Given the description of an element on the screen output the (x, y) to click on. 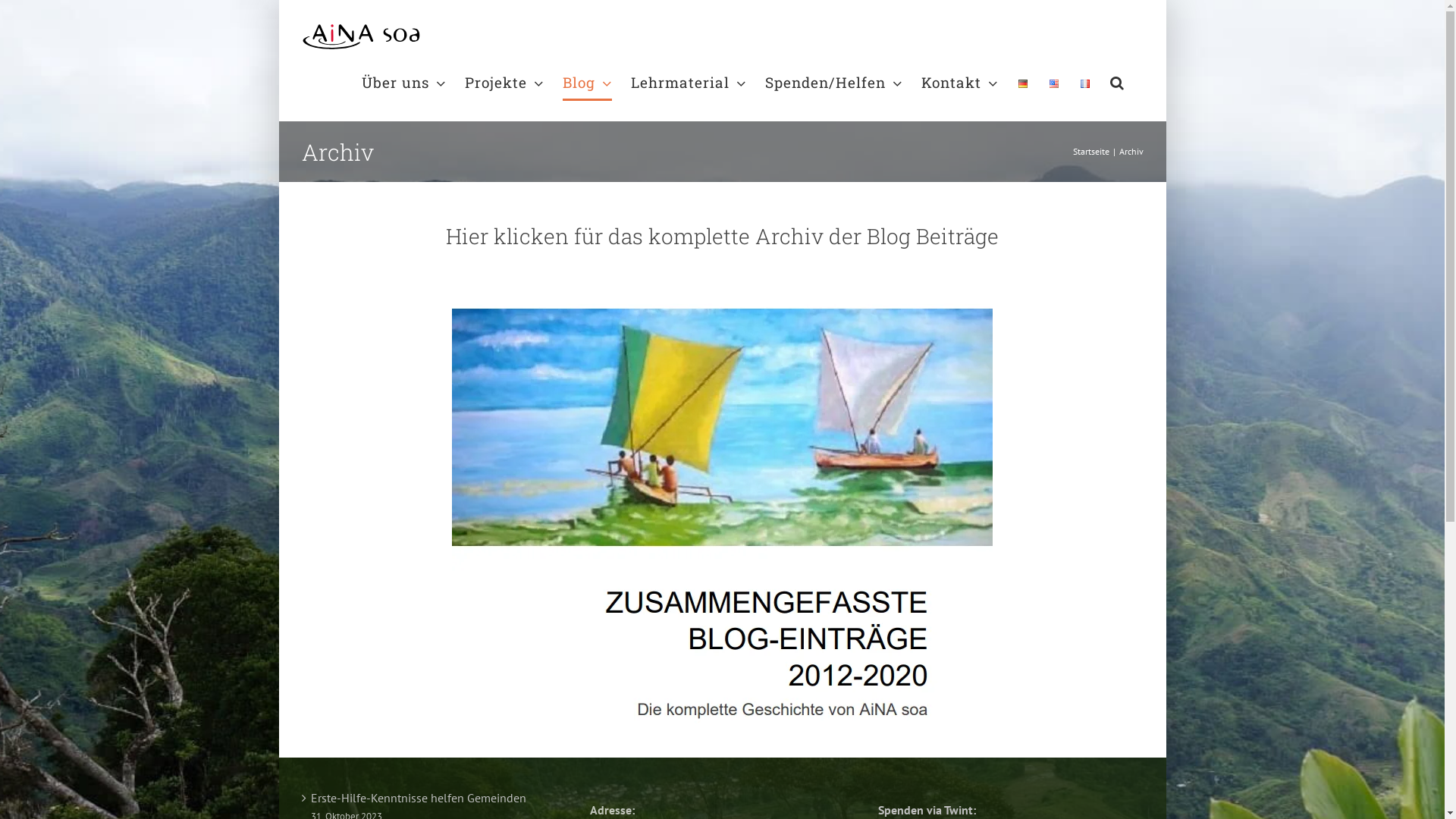
Blog Element type: text (586, 81)
Spenden/Helfen Element type: text (832, 81)
Lehrmaterial Element type: text (688, 81)
Projekte Element type: text (503, 81)
Startseite Element type: text (1090, 150)
Spenden via Twint: Element type: text (926, 809)
BlogZusammenfassung bild Element type: hover (721, 509)
Erste-Hilfe-Kenntnisse helfen Gemeinden Element type: text (434, 797)
Kontakt Element type: text (958, 81)
Suche Element type: hover (1117, 81)
